Given the description of an element on the screen output the (x, y) to click on. 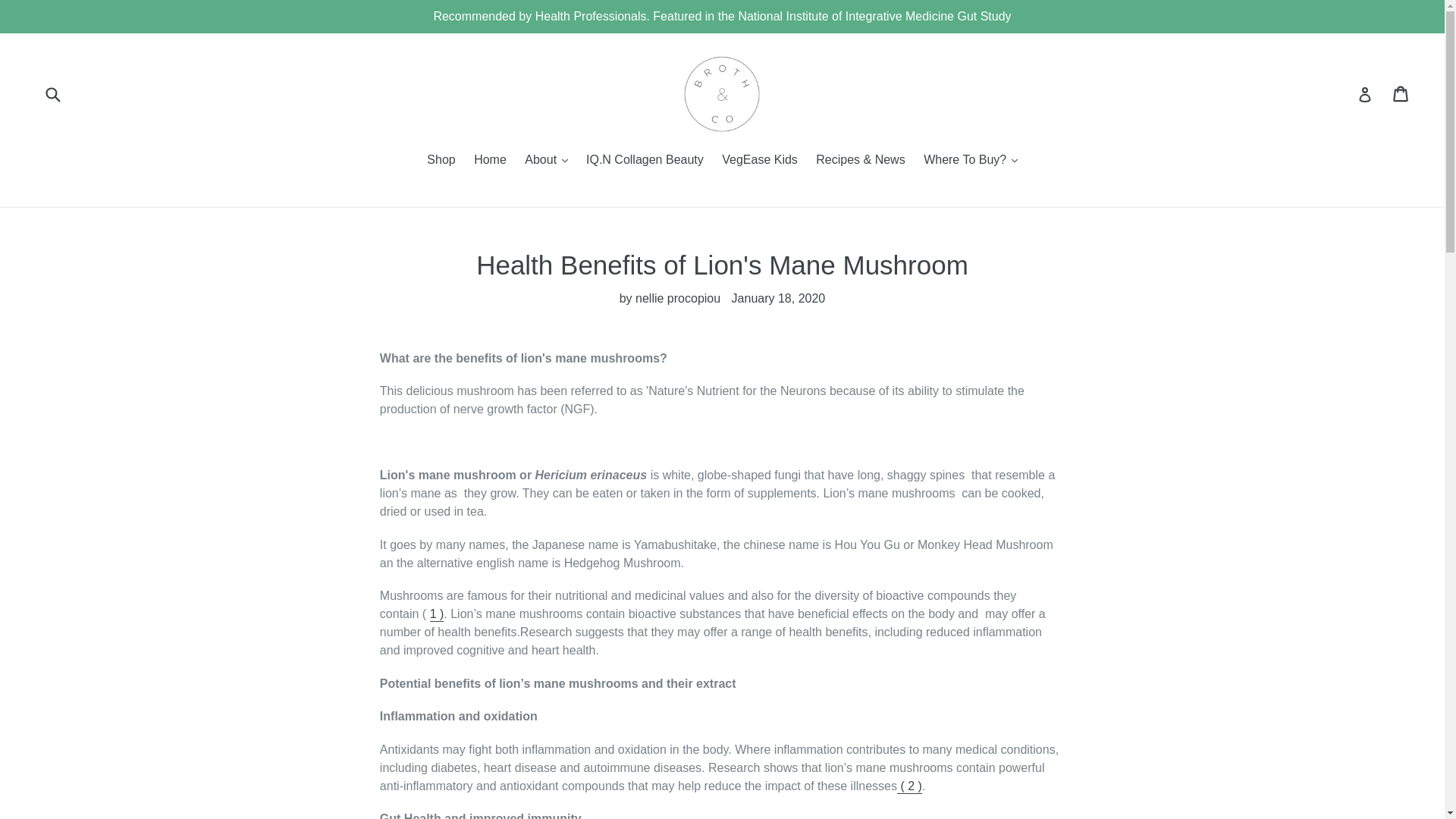
Shop (441, 160)
Home (489, 160)
IQ.N Collagen Beauty (644, 160)
VegEase Kids (759, 160)
